Given the description of an element on the screen output the (x, y) to click on. 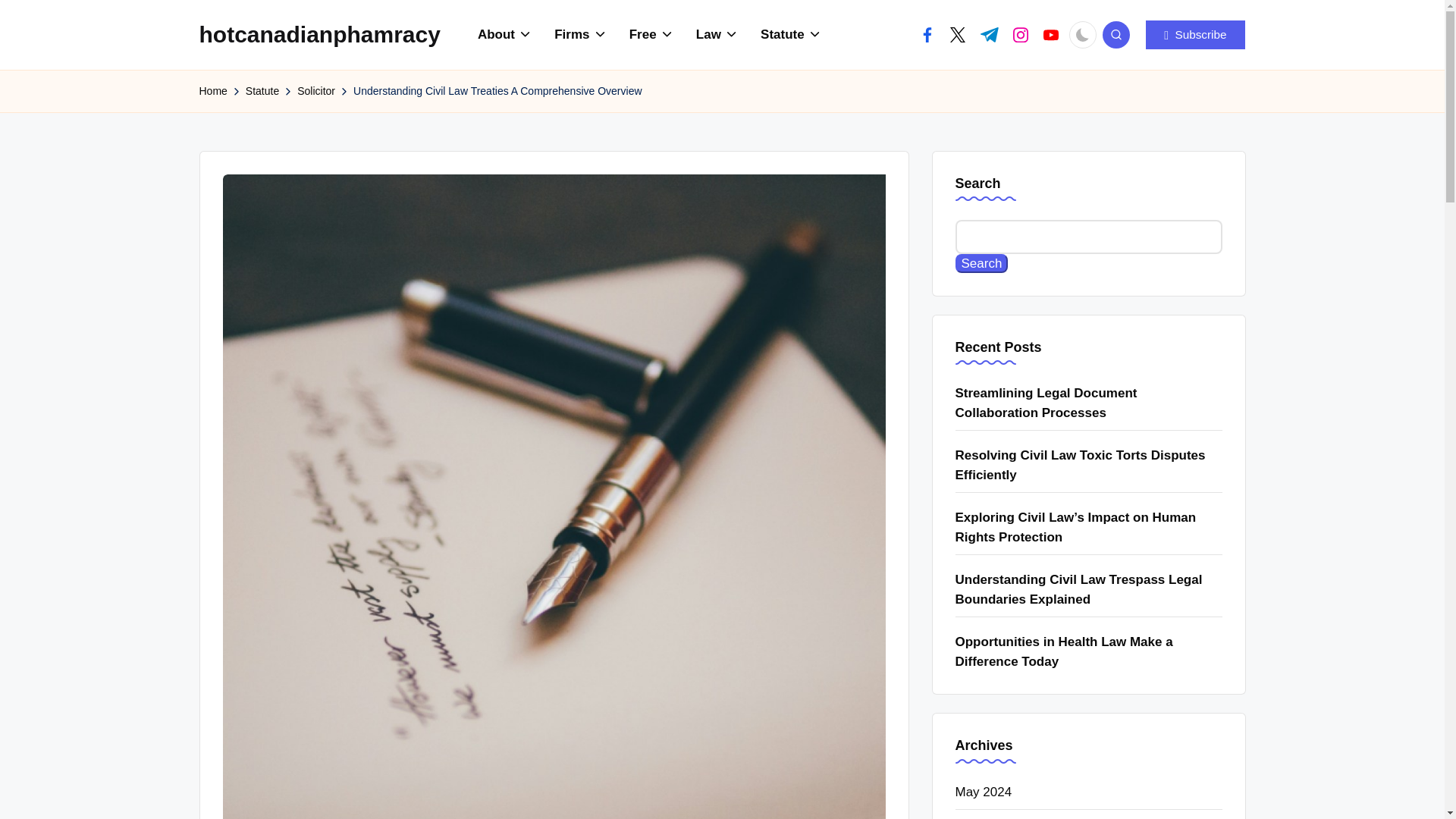
hotcanadianphamracy (318, 34)
About (505, 34)
